Given the description of an element on the screen output the (x, y) to click on. 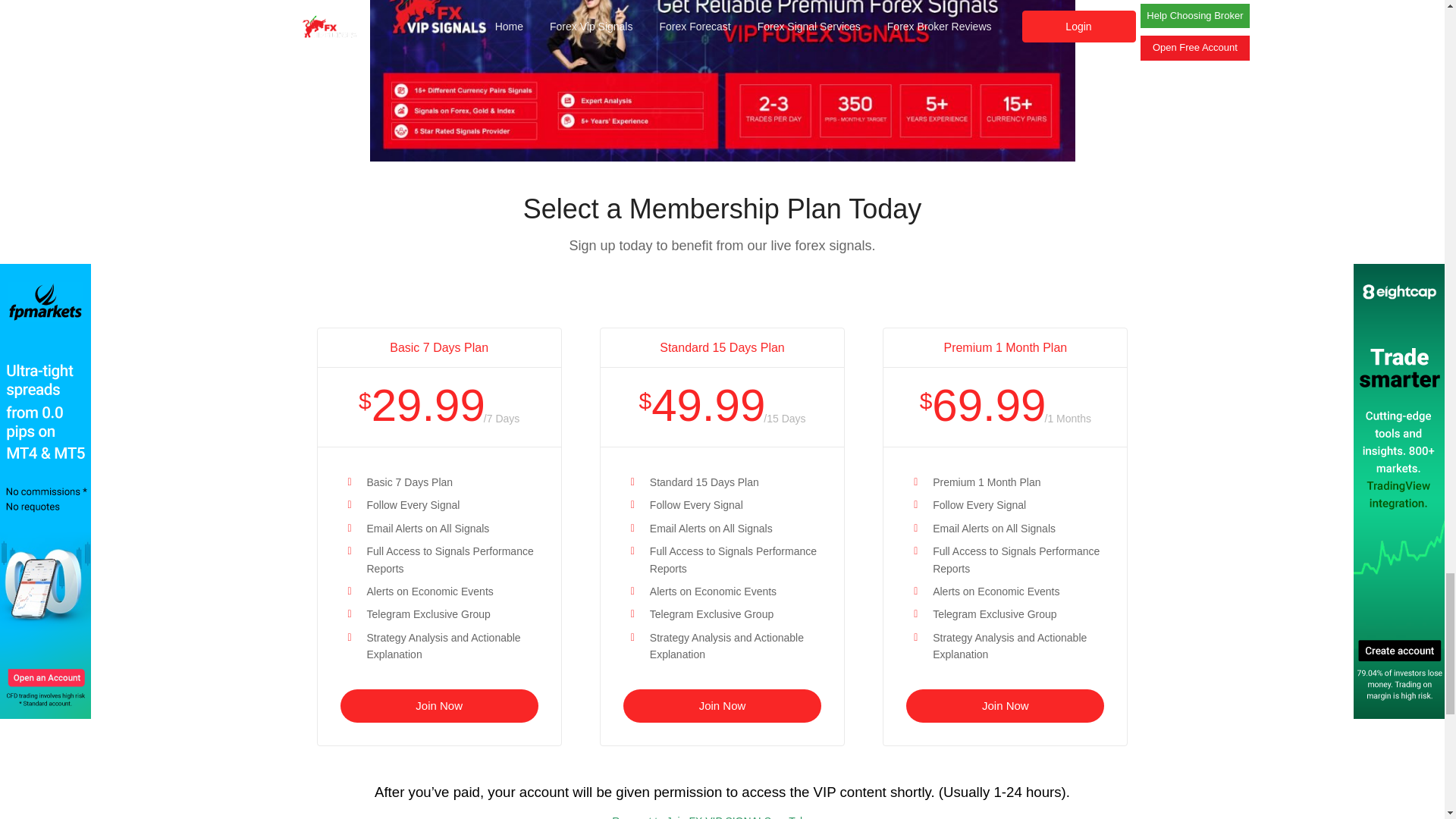
Join Now (1004, 705)
Request to Join FX VIP SIGNALS on Telegram (721, 816)
Join Now (438, 705)
Join Now (722, 705)
